Given the description of an element on the screen output the (x, y) to click on. 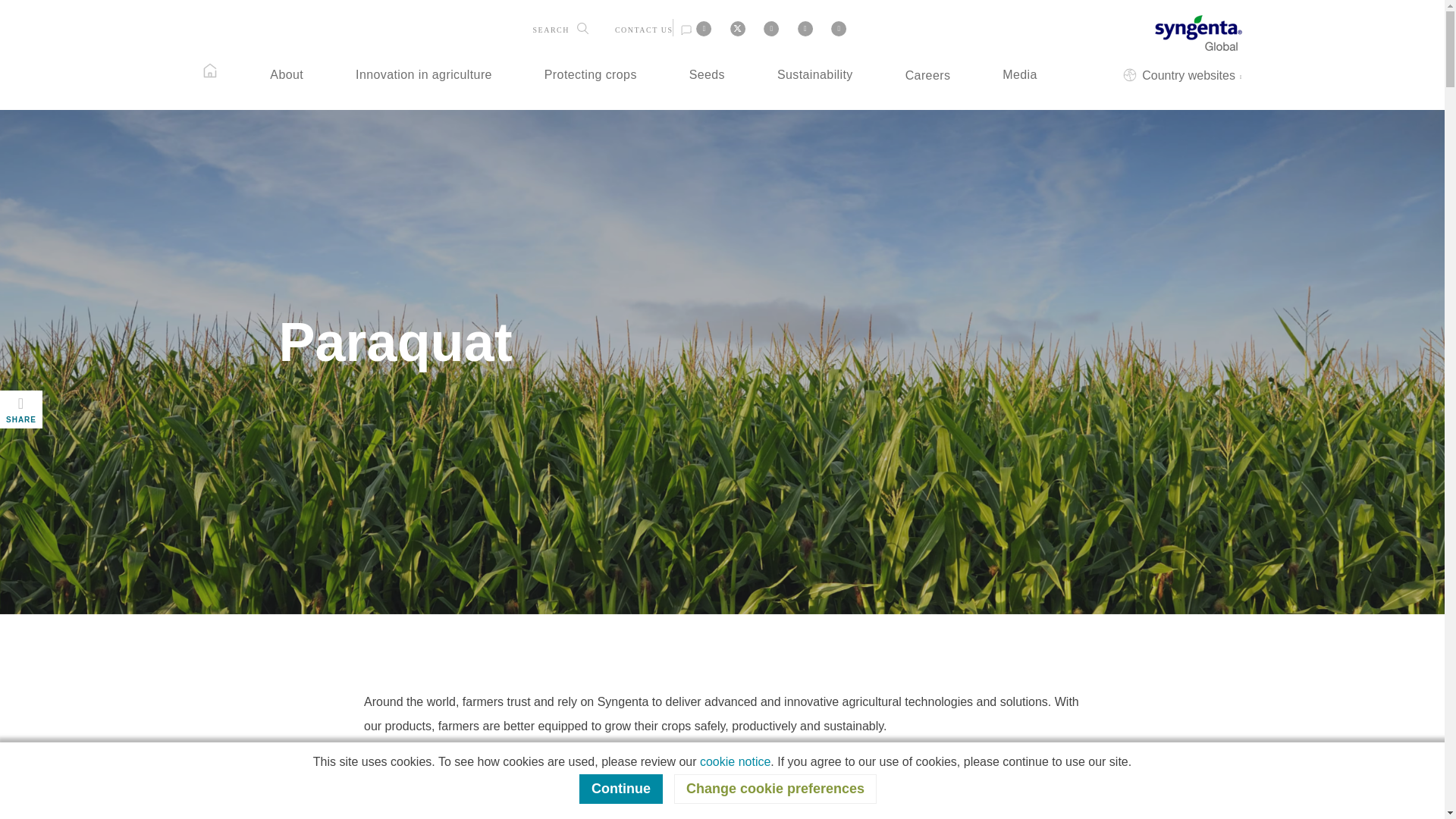
Change cookie preferences (775, 788)
Syngenta Global - link to home page (1197, 31)
cookie notice (735, 761)
Continue (620, 788)
Share on Twitter - opens in a new window (737, 28)
